Given the description of an element on the screen output the (x, y) to click on. 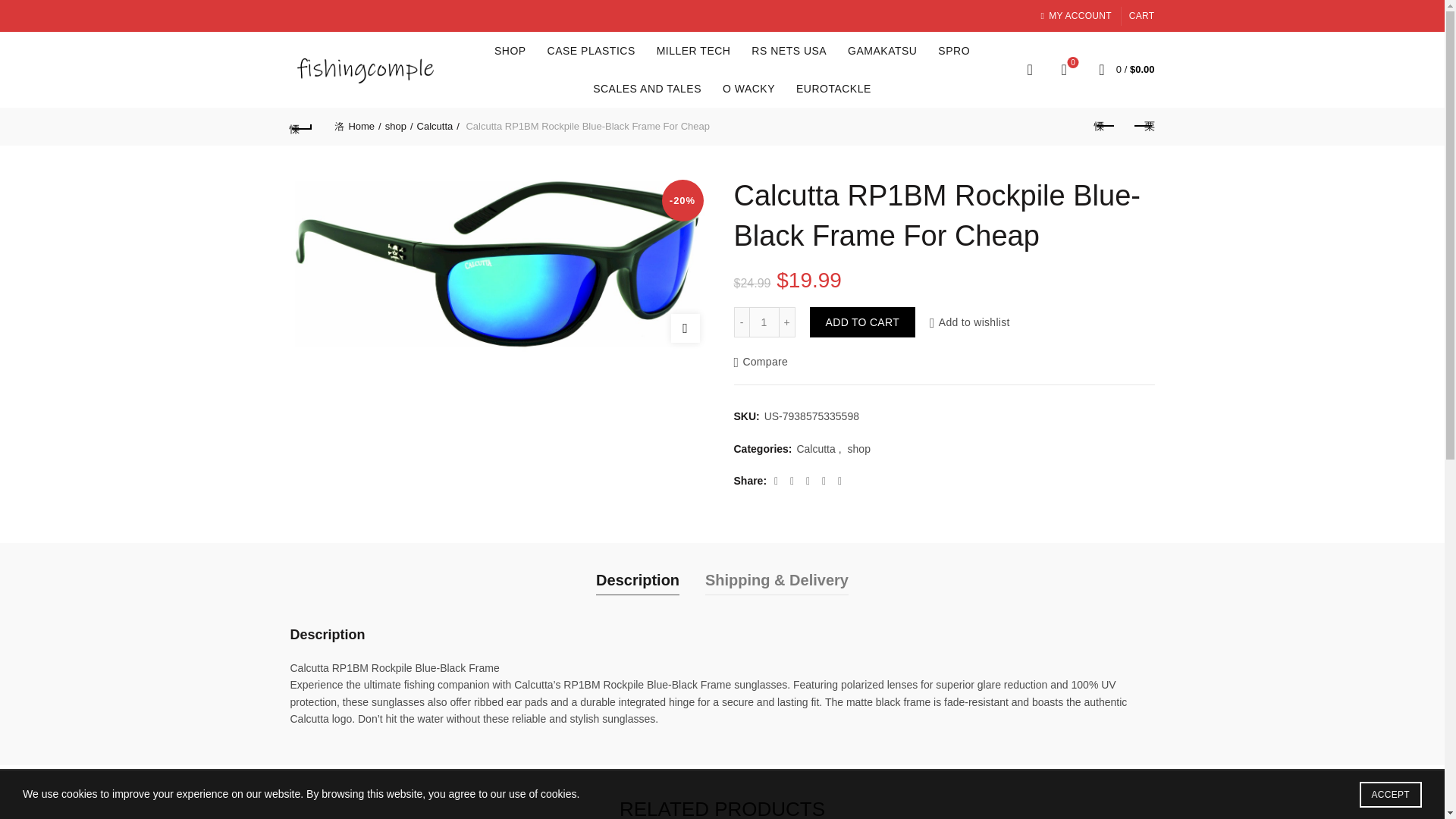
Calcutta (438, 125)
Previous product (1105, 126)
CART (1141, 15)
MY ACCOUNT (1074, 15)
Search (30, 45)
Back (301, 126)
Next product (1063, 69)
SPRO (1142, 126)
MILLER TECH (953, 50)
Qty (693, 50)
CASE PLASTICS (763, 322)
- (591, 50)
SCALES AND TALES (741, 322)
GAMAKATSU (647, 88)
